Given the description of an element on the screen output the (x, y) to click on. 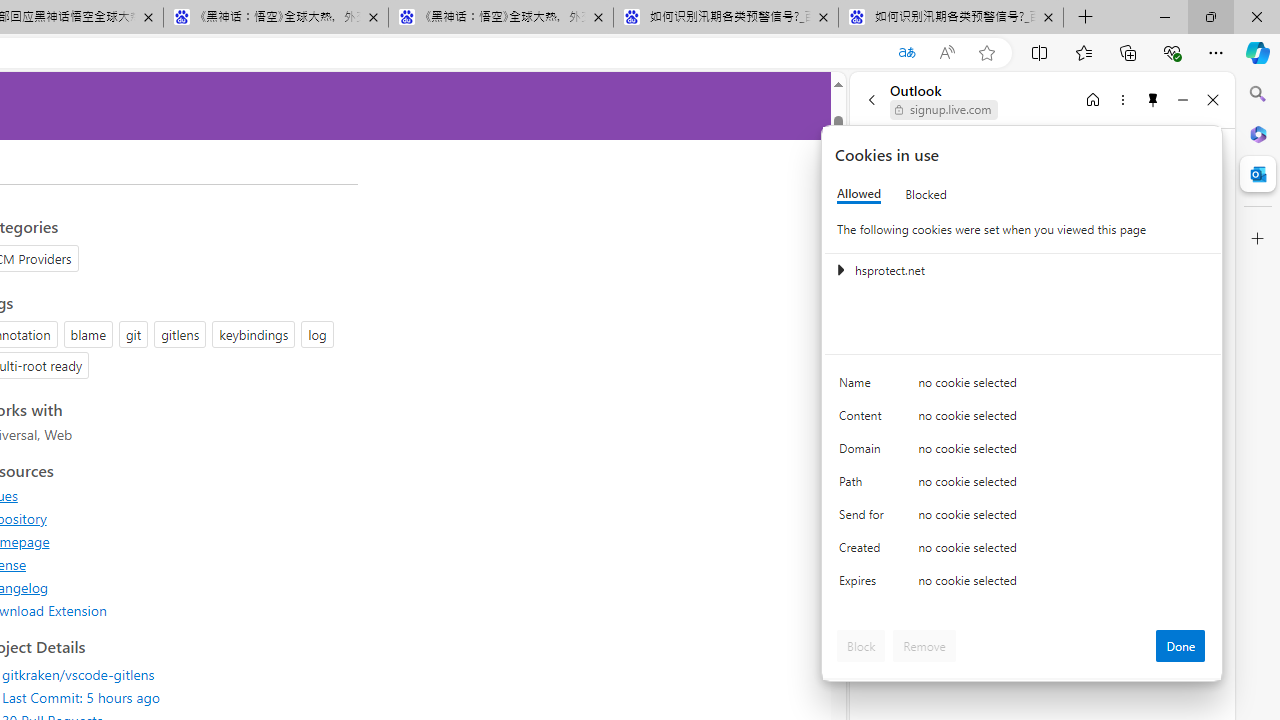
Expires (864, 585)
Block (861, 645)
Remove (924, 645)
Done (1179, 645)
Name (864, 387)
Allowed (859, 193)
Created (864, 552)
Blocked (925, 193)
Class: c0153 c0157 c0154 (1023, 386)
Send for (864, 518)
Class: c0153 c0157 (1023, 584)
Path (864, 485)
no cookie selected (1062, 585)
Content (864, 420)
Domain (864, 452)
